Given the description of an element on the screen output the (x, y) to click on. 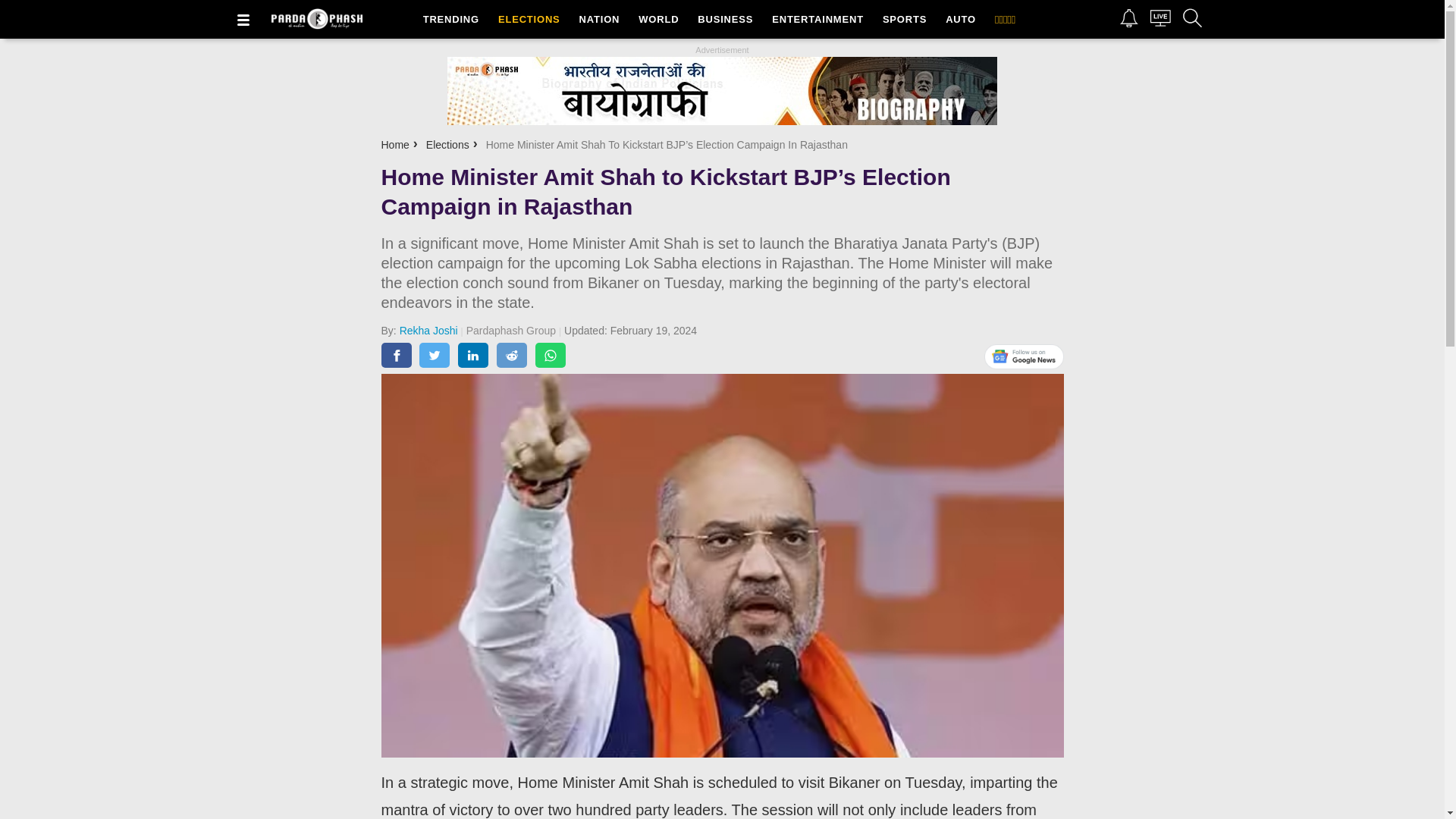
ENTERTAINMENT (811, 19)
Home (394, 144)
ELECTIONS (525, 19)
WORLD (656, 19)
Elections (447, 144)
NATION (596, 19)
TRENDING (447, 19)
BUSINESS (721, 19)
SPORTS (901, 19)
Rekha Joshi  (431, 330)
Pardaphash Group (514, 330)
